Given the description of an element on the screen output the (x, y) to click on. 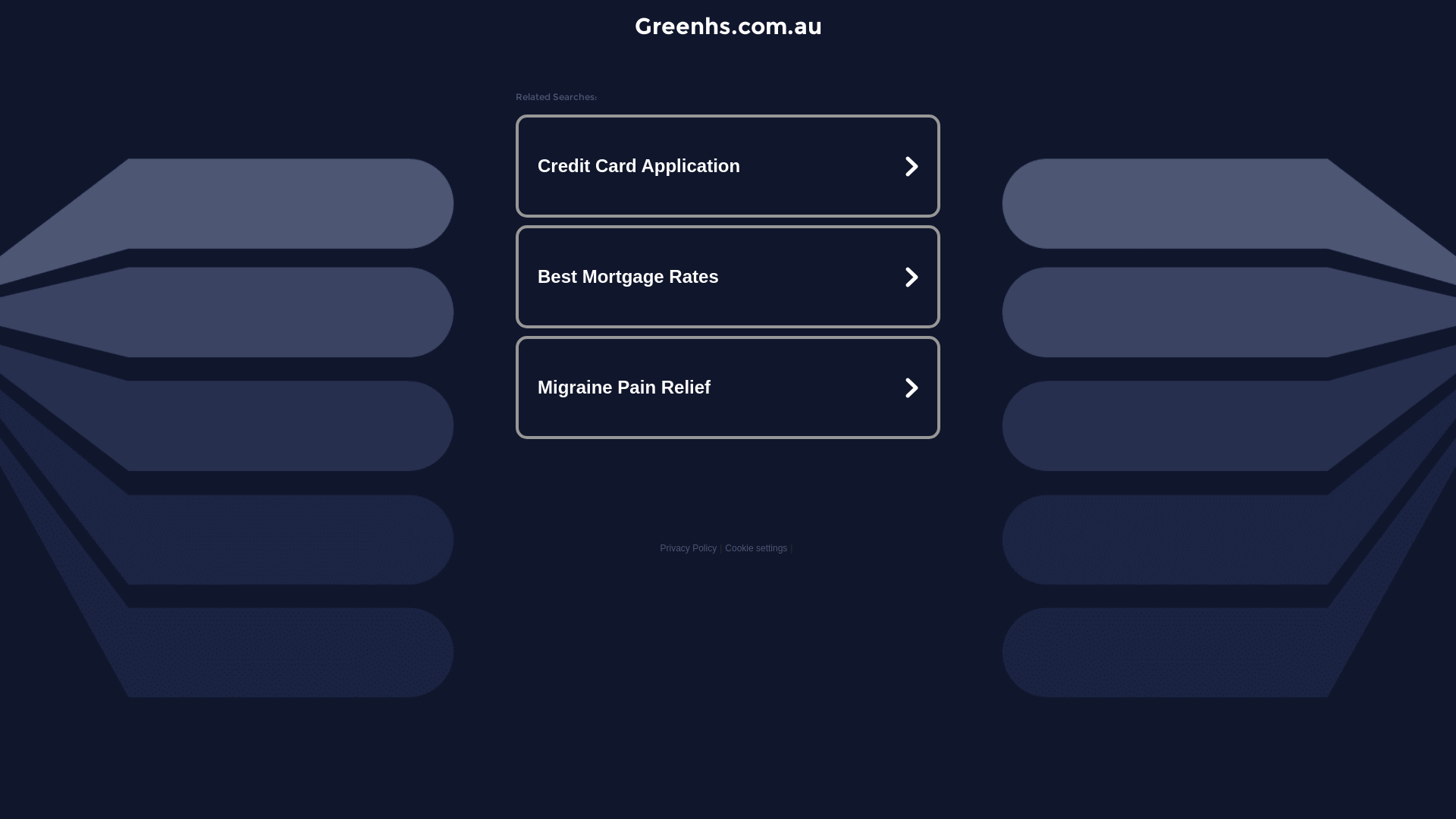
Greenhs.com.au Element type: text (727, 26)
Credit Card Application Element type: text (727, 165)
Cookie settings Element type: text (755, 547)
Migraine Pain Relief Element type: text (727, 387)
Best Mortgage Rates Element type: text (727, 276)
Privacy Policy Element type: text (687, 547)
